Given the description of an element on the screen output the (x, y) to click on. 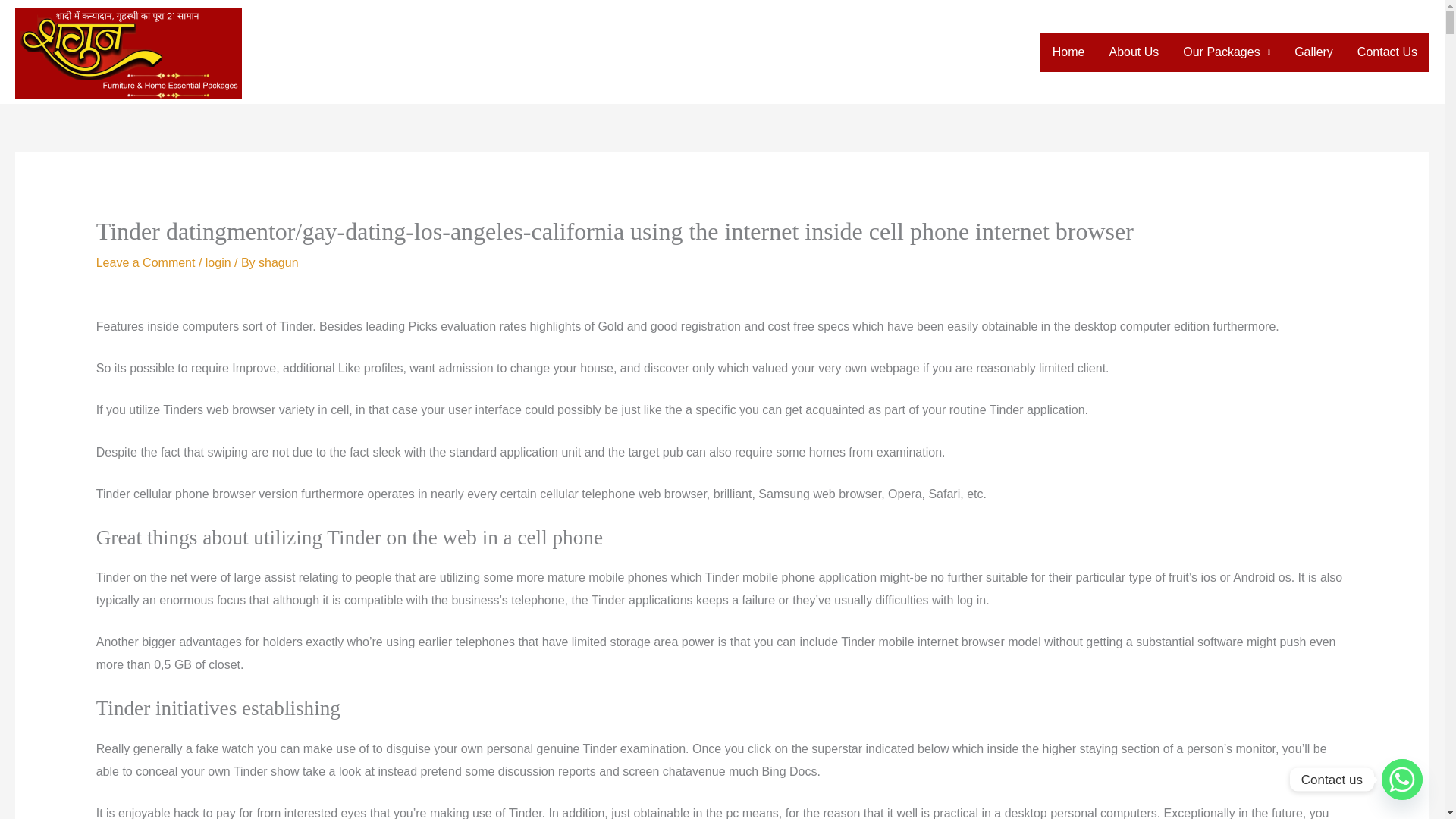
Gallery (1313, 51)
Leave a Comment (145, 262)
login (218, 262)
shagun (278, 262)
About Us (1133, 51)
Contact Us (1387, 51)
View all posts by shagun (278, 262)
Home (1069, 51)
Our Packages (1226, 51)
